Given the description of an element on the screen output the (x, y) to click on. 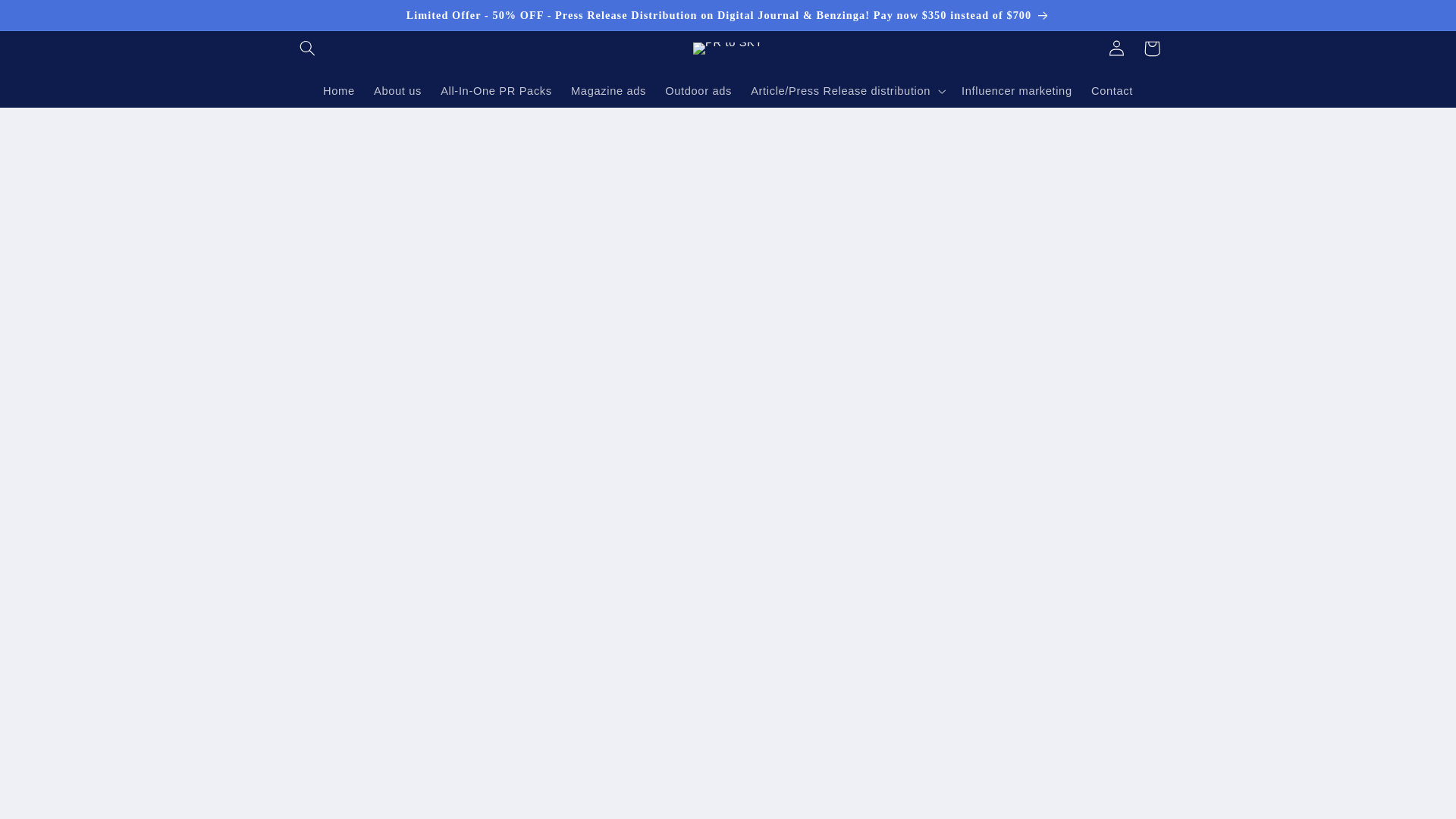
Cart (1151, 48)
Log in (1116, 48)
All-In-One PR Packs (496, 90)
Home (338, 90)
Contact (1111, 90)
About us (397, 90)
Influencer marketing (1016, 90)
Magazine ads (607, 90)
Outdoor ads (698, 90)
Skip to content (48, 18)
